Given the description of an element on the screen output the (x, y) to click on. 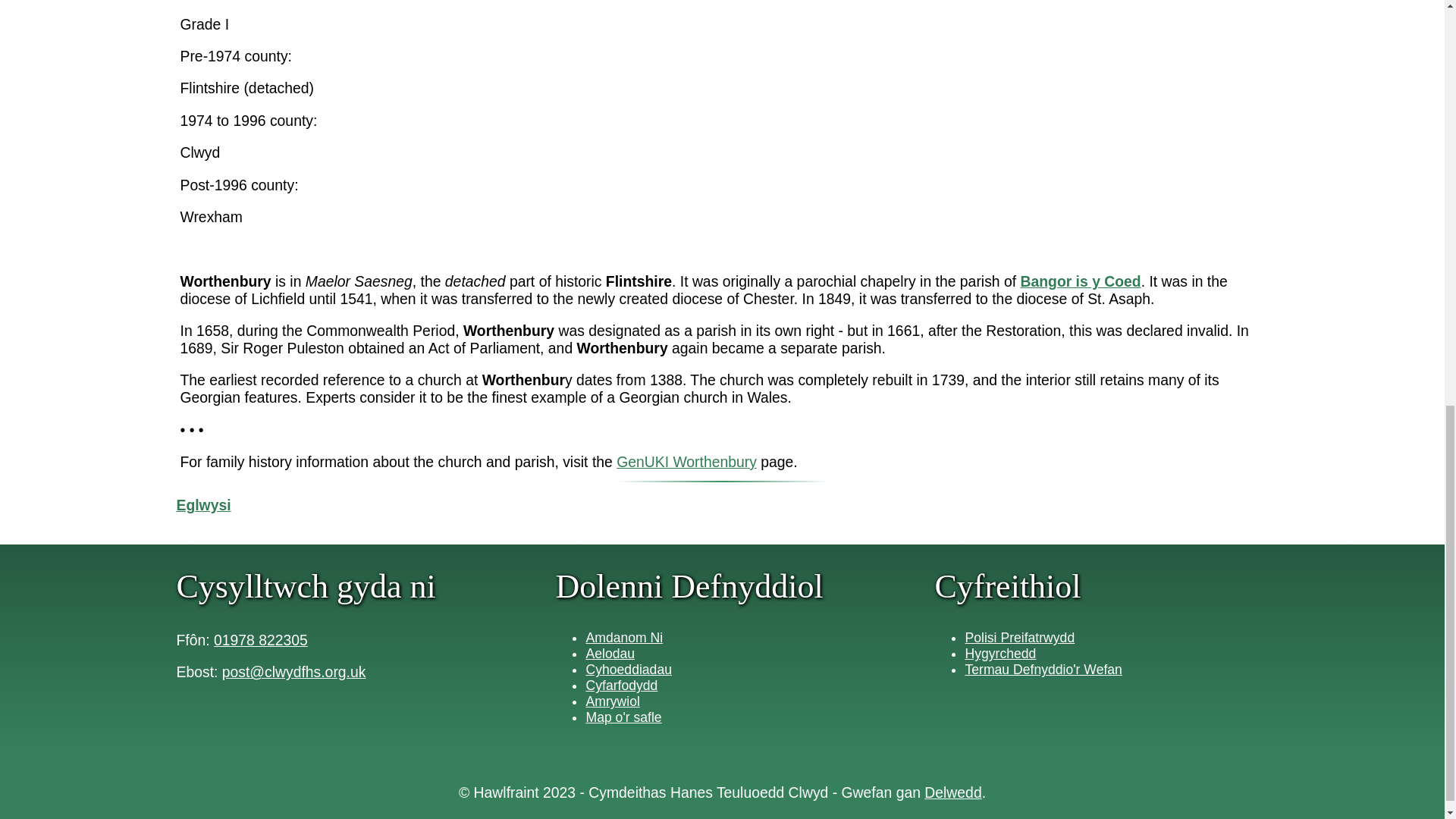
Bangor is y Coed (1080, 280)
GenUKI Worthenbury (686, 461)
Aelodau (609, 653)
01978 822305 (260, 639)
Eglwysi (203, 504)
Amdanom Ni (623, 637)
